Given the description of an element on the screen output the (x, y) to click on. 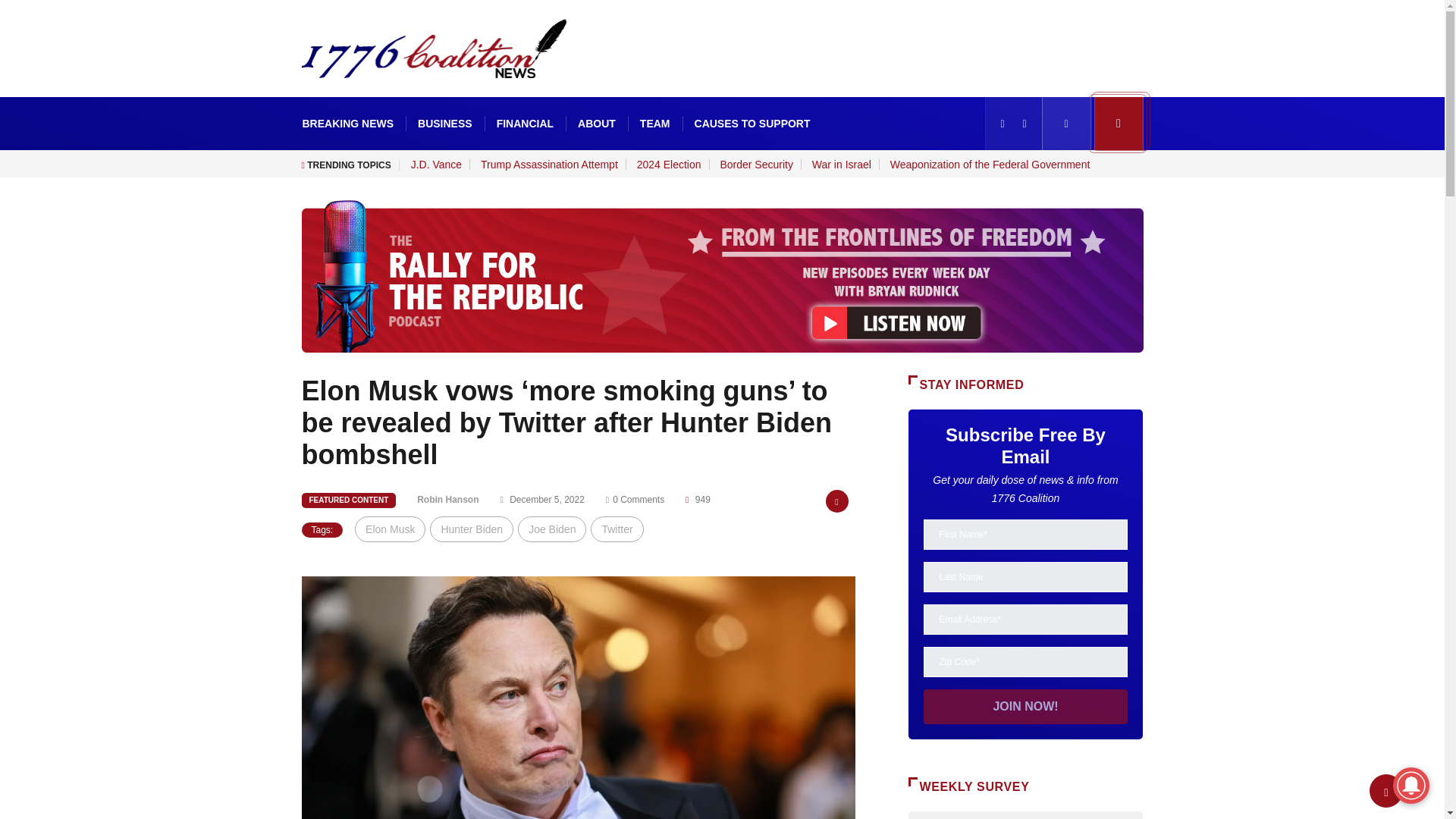
J.D. Vance (435, 164)
Rally 4 The Republic Podcast (721, 275)
Border Security (755, 164)
Rally 4 the Republic (1118, 123)
ABOUT (596, 123)
BREAKING NEWS (347, 123)
War in Israel (841, 164)
Trump Assassination Attempt (548, 164)
Featured Content (348, 500)
Weaponization of the Federal Government (989, 164)
BUSINESS (445, 123)
FINANCIAL (525, 123)
facebook (1001, 123)
twitter (1023, 123)
TEAM (654, 123)
